Given the description of an element on the screen output the (x, y) to click on. 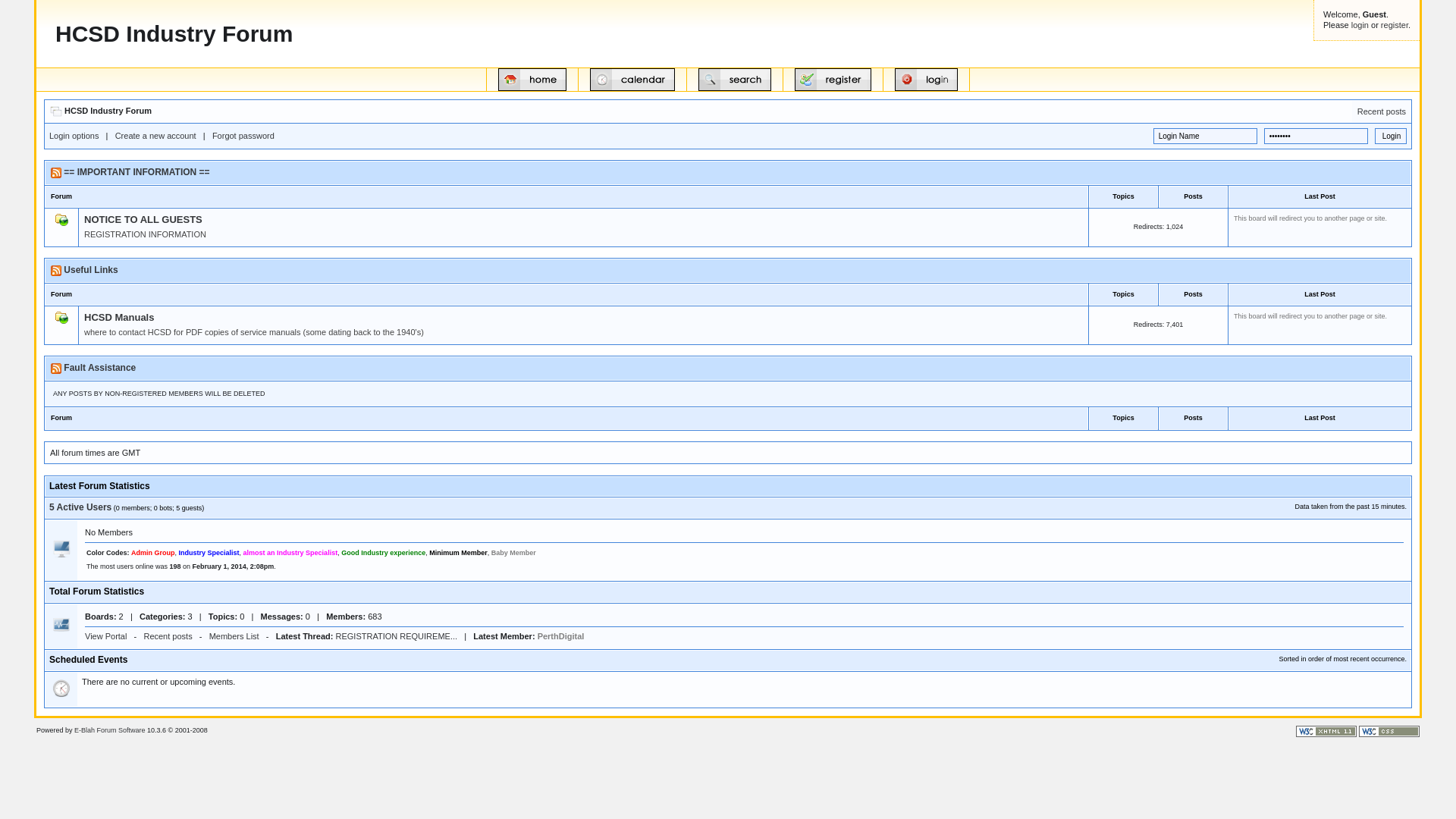
Admin Group Element type: text (153, 552)
Forgot password Element type: text (243, 135)
Recent posts Element type: text (167, 635)
PerthDigital Element type: text (560, 635)
Useful Links Element type: text (90, 269)
REGISTRATION REQUIREME... Element type: text (396, 635)
5 Active Users Element type: text (80, 507)
login Element type: text (1359, 24)
NOTICE TO ALL GUESTS Element type: text (143, 219)
Valid XHTML Element type: hover (1325, 731)
== IMPORTANT INFORMATION == Element type: text (136, 171)
 Login  Element type: text (1390, 136)
register Element type: text (1394, 24)
Members List Element type: text (234, 635)
View Portal Element type: text (105, 635)
HCSD Manuals Element type: text (118, 317)
Login options Element type: text (73, 135)
E-Blah Forum Software Element type: text (109, 730)
Fault Assistance Element type: text (99, 367)
Valid CSS Element type: hover (1388, 731)
Create a new account Element type: text (155, 135)
Recent posts Element type: text (1381, 111)
